Given the description of an element on the screen output the (x, y) to click on. 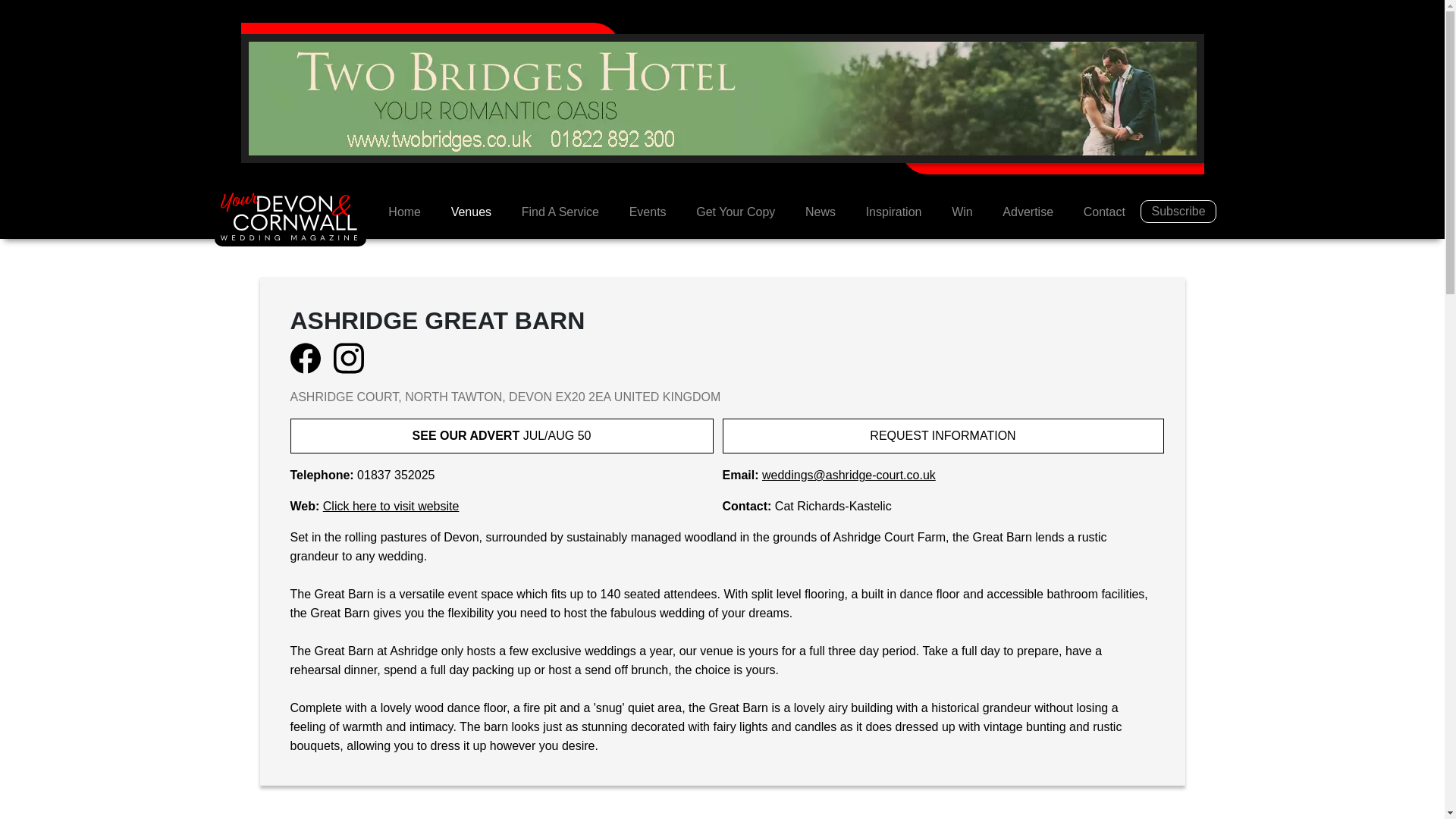
Click here to visit website (391, 505)
Your Devon and Cornwall Wedding (403, 212)
Find your dream wedding venue in Devon and Cornwall (470, 212)
Venues (470, 212)
Contact the team at Your Devon and Cornwall Wedding magazine (1104, 212)
Subscribe (1178, 210)
Two Bridges Hotel (722, 97)
Find A Service (560, 212)
